Given the description of an element on the screen output the (x, y) to click on. 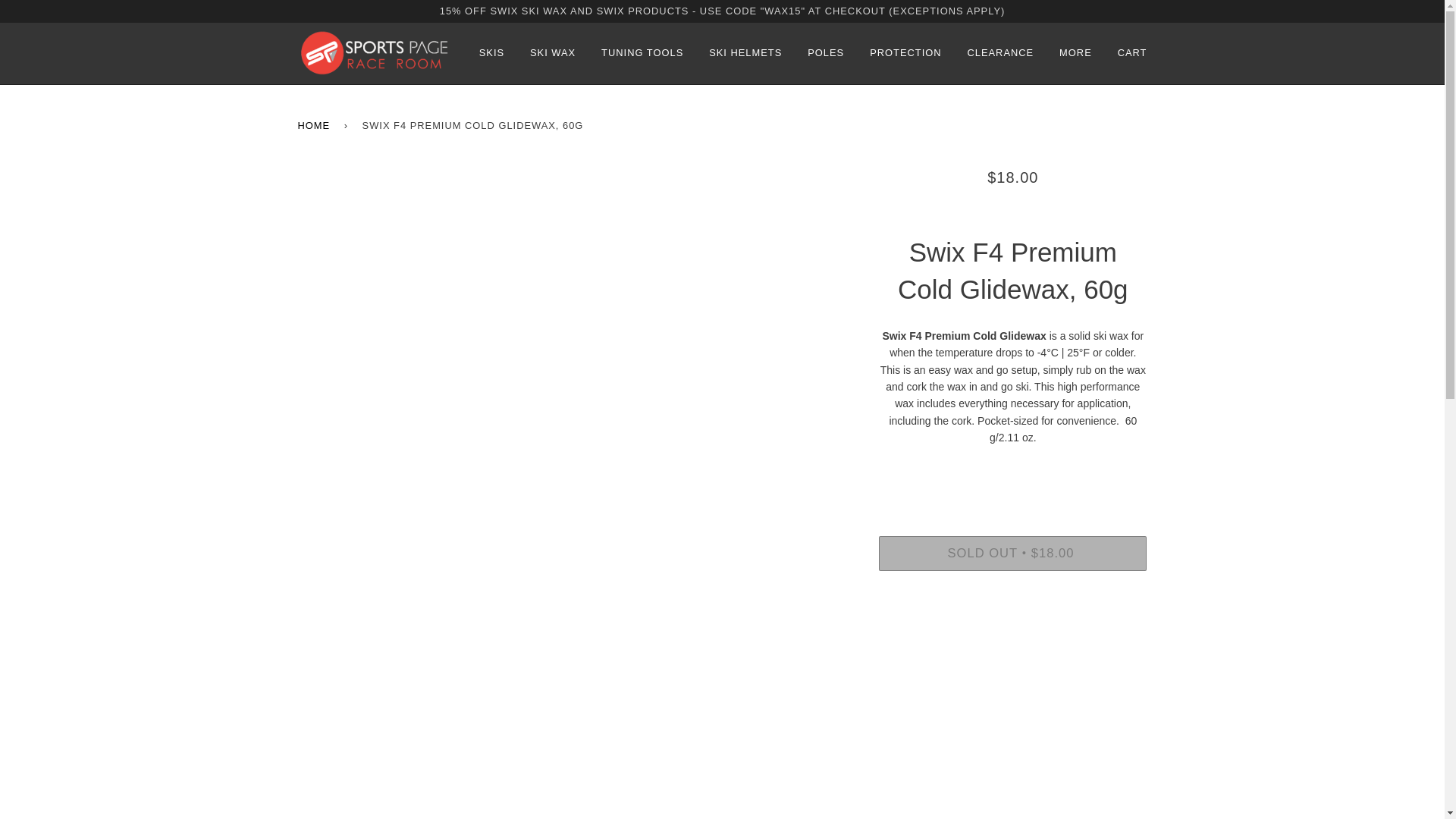
Back to the frontpage (315, 125)
TUNING TOOLS (641, 53)
SKI HELMETS (745, 53)
